Given the description of an element on the screen output the (x, y) to click on. 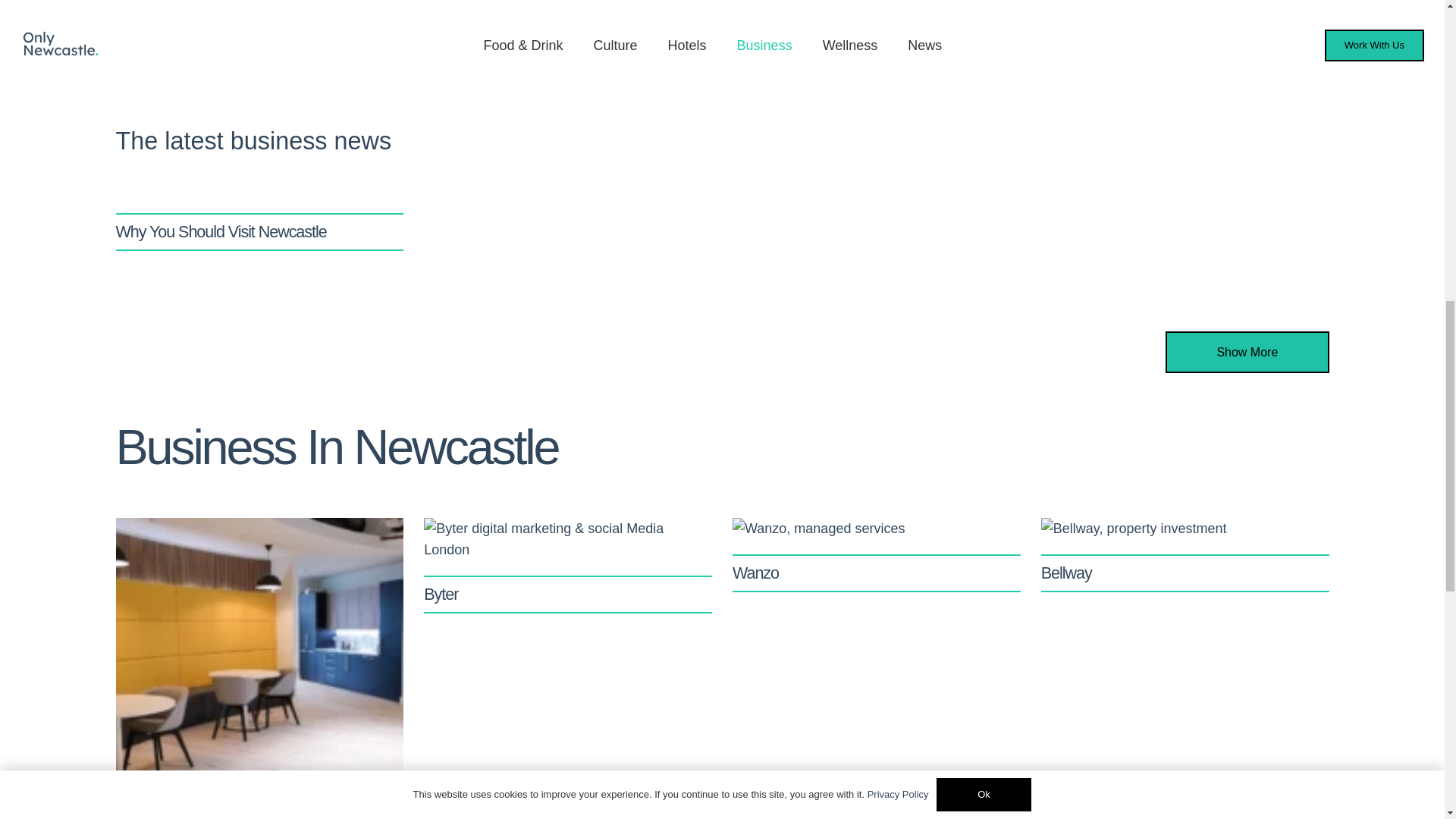
Why You Should Visit Newcastle (220, 230)
Wanzo (755, 572)
Back to top (1413, 37)
Byter (440, 593)
Bellway (1066, 572)
Show More (1246, 351)
